Given the description of an element on the screen output the (x, y) to click on. 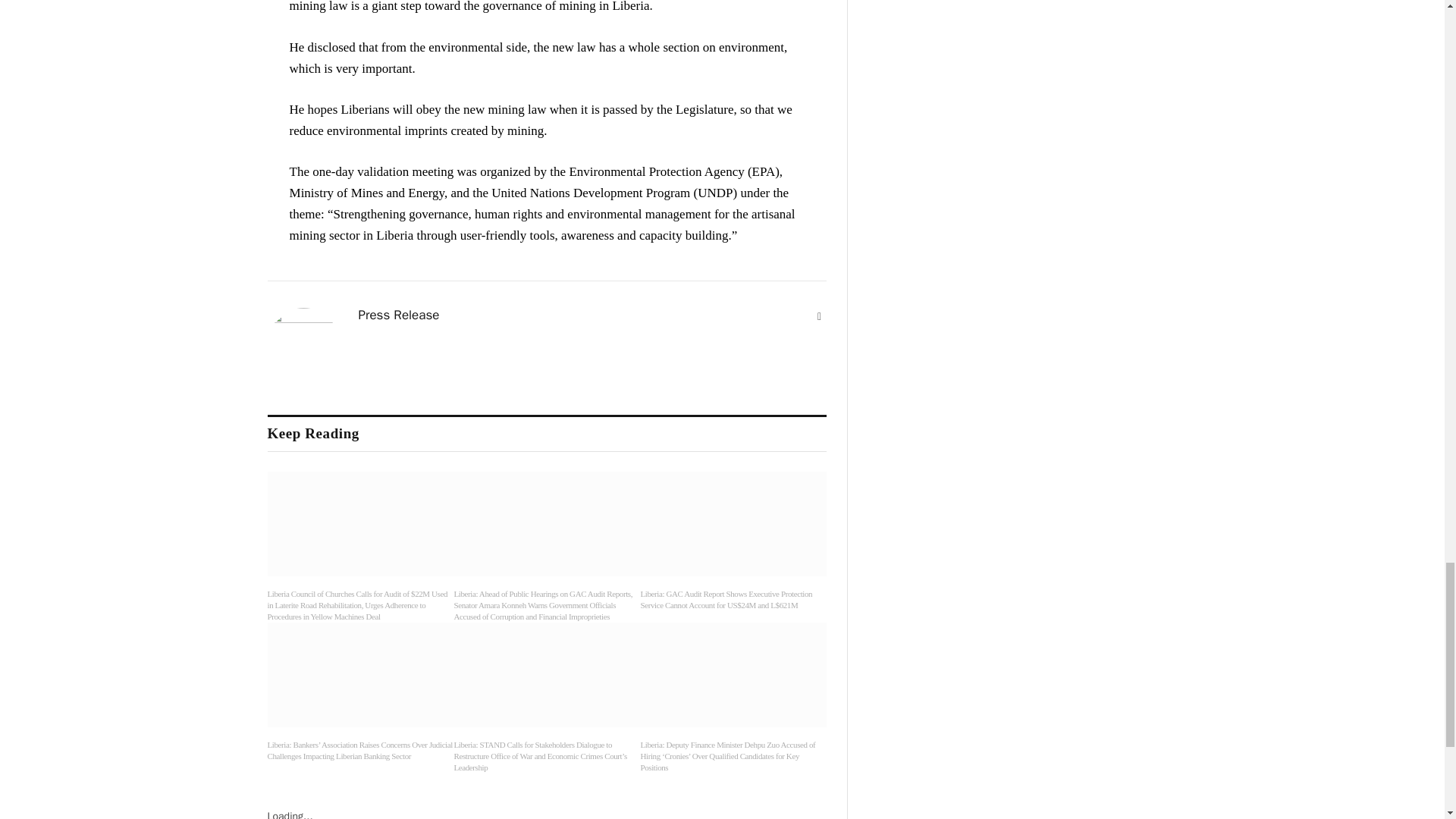
Posts by Press Release (398, 314)
Website (818, 316)
